Given the description of an element on the screen output the (x, y) to click on. 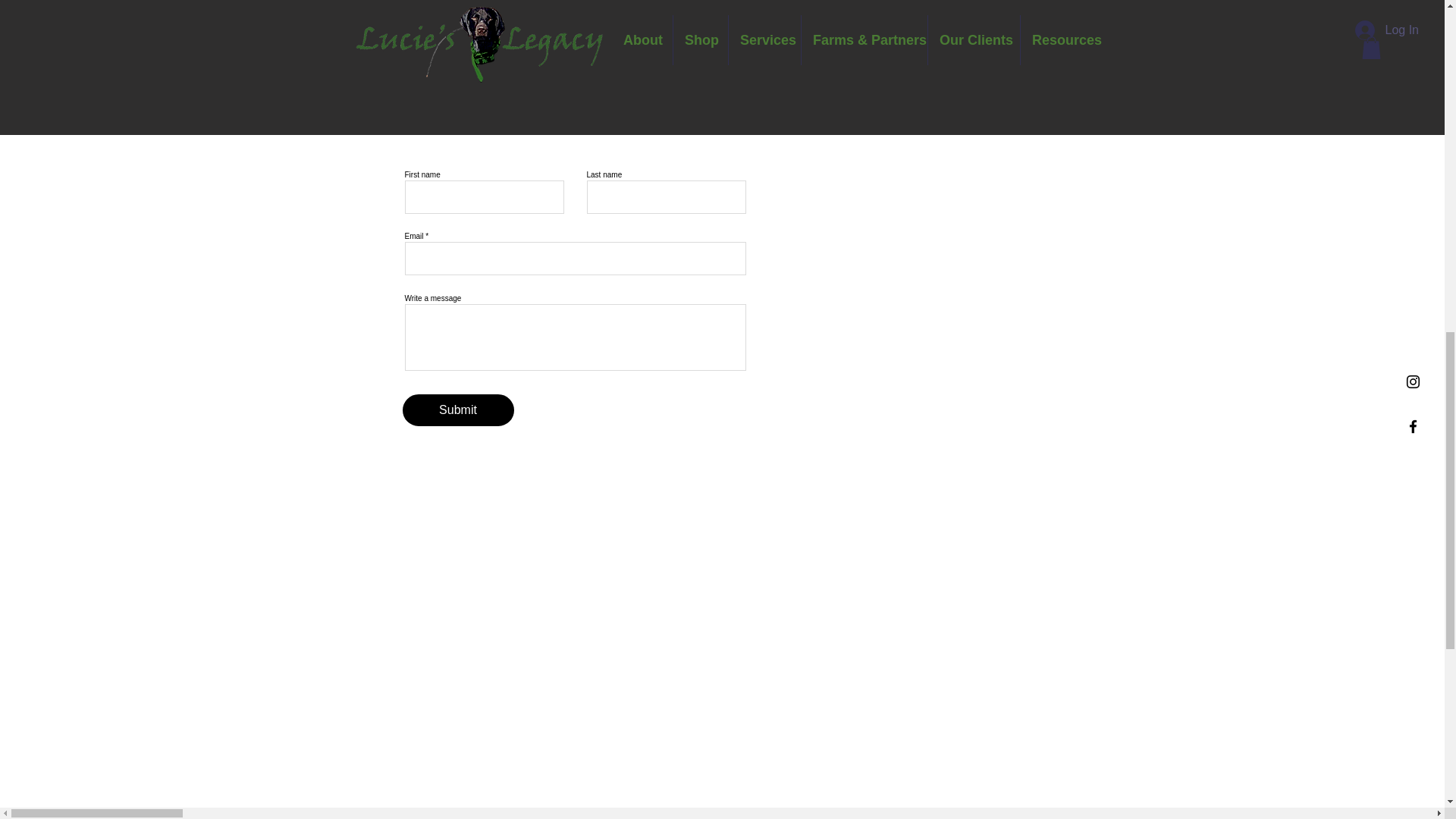
Submit (457, 409)
SHIPPING INFO (924, 4)
